Given the description of an element on the screen output the (x, y) to click on. 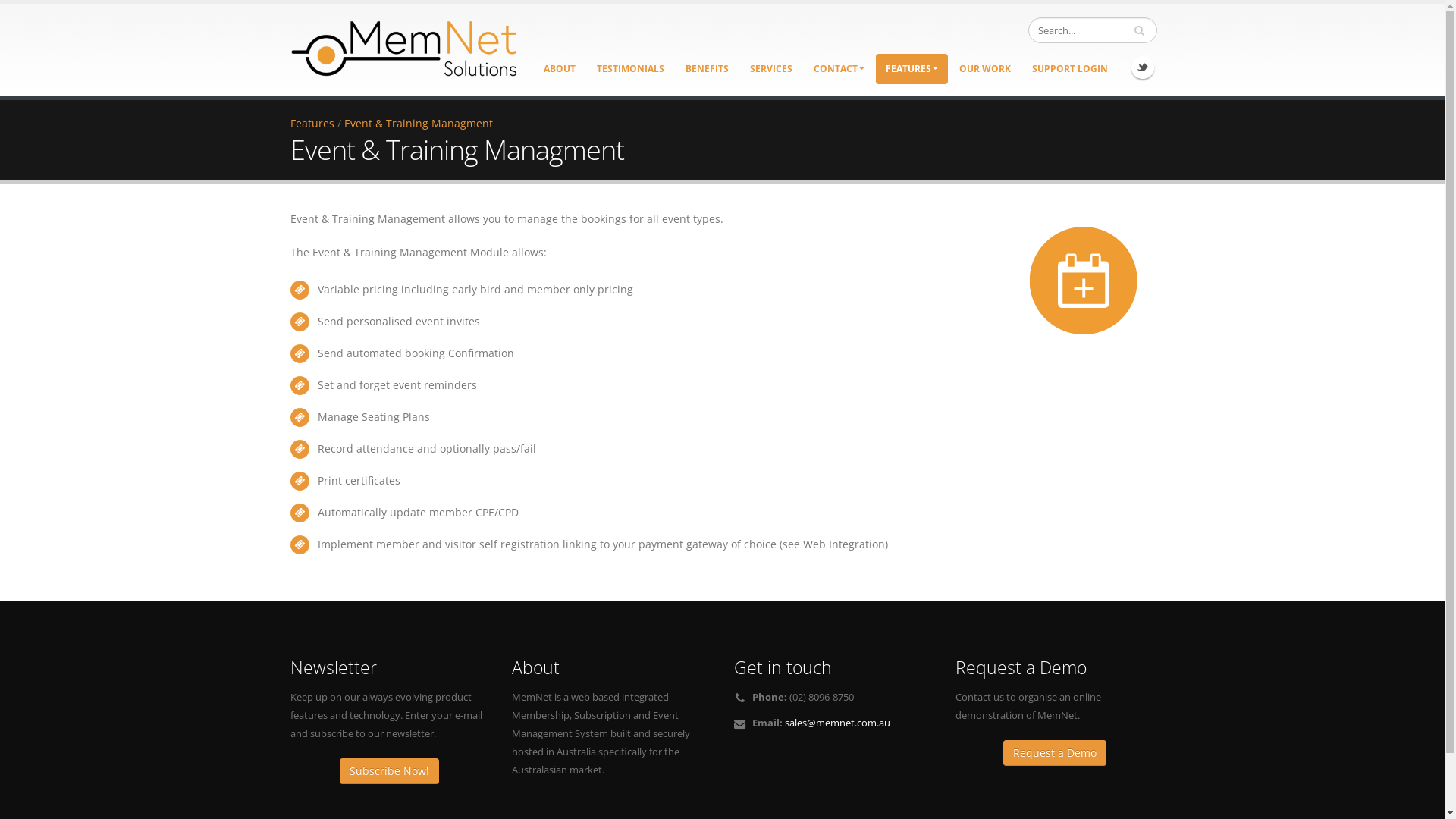
TESTIMONIALS Element type: text (630, 68)
Features Element type: text (311, 123)
CONTACT Element type: text (838, 68)
OUR WORK Element type: text (984, 68)
Event & Training Managment Element type: text (418, 123)
Subscribe Now! Element type: text (389, 771)
Twitter Element type: text (1142, 67)
sales@memnet.com.au Element type: text (836, 722)
BENEFITS Element type: text (705, 68)
MemNet Membership Software Element type: hover (403, 44)
ABOUT Element type: text (559, 68)
Request a Demo Element type: text (1054, 752)
  Element type: text (1140, 30)
FEATURES Element type: text (911, 68)
SUPPORT LOGIN Element type: text (1069, 68)
SERVICES Element type: text (771, 68)
